Given the description of an element on the screen output the (x, y) to click on. 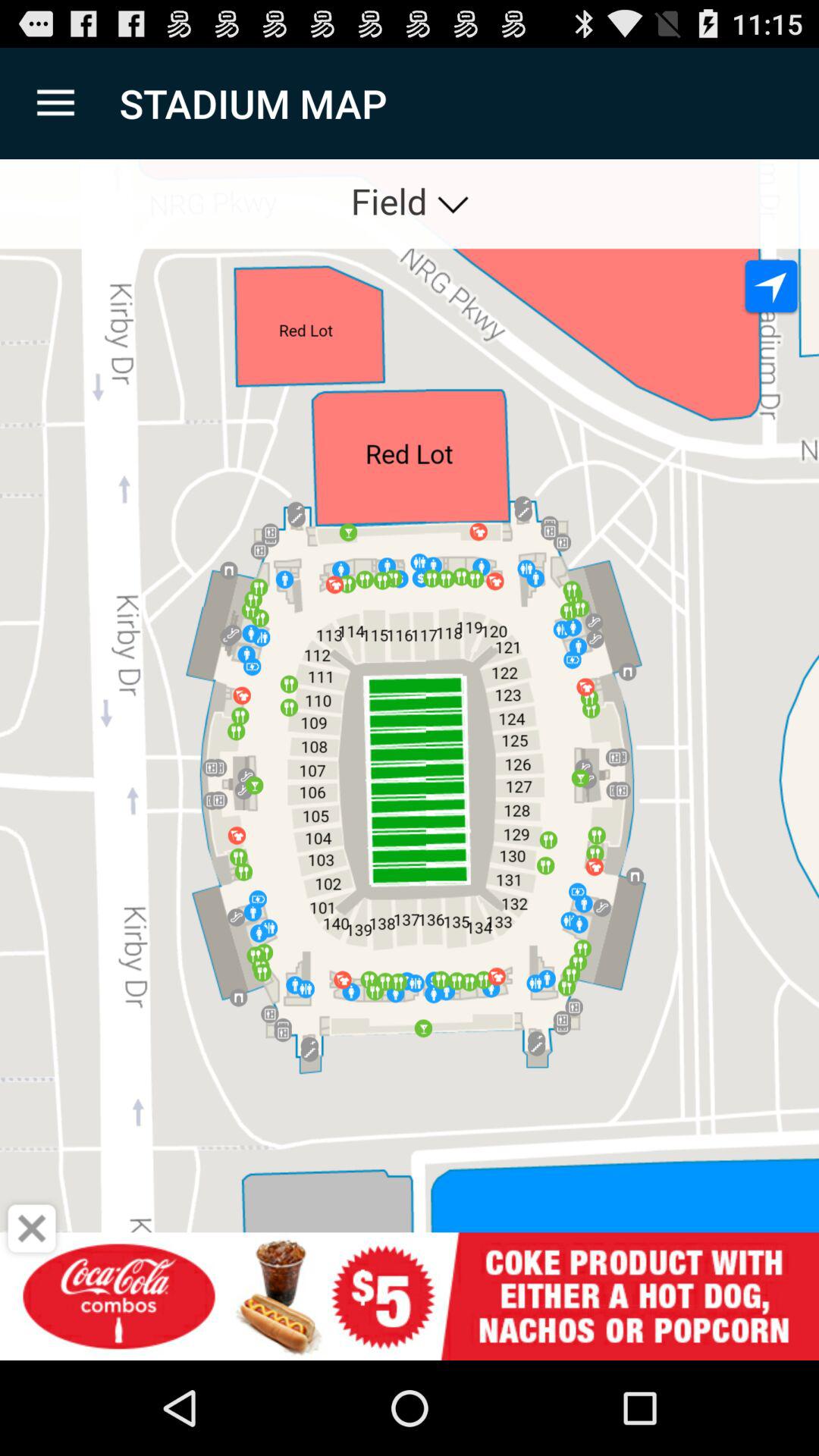
close advertisement (31, 1228)
